Given the description of an element on the screen output the (x, y) to click on. 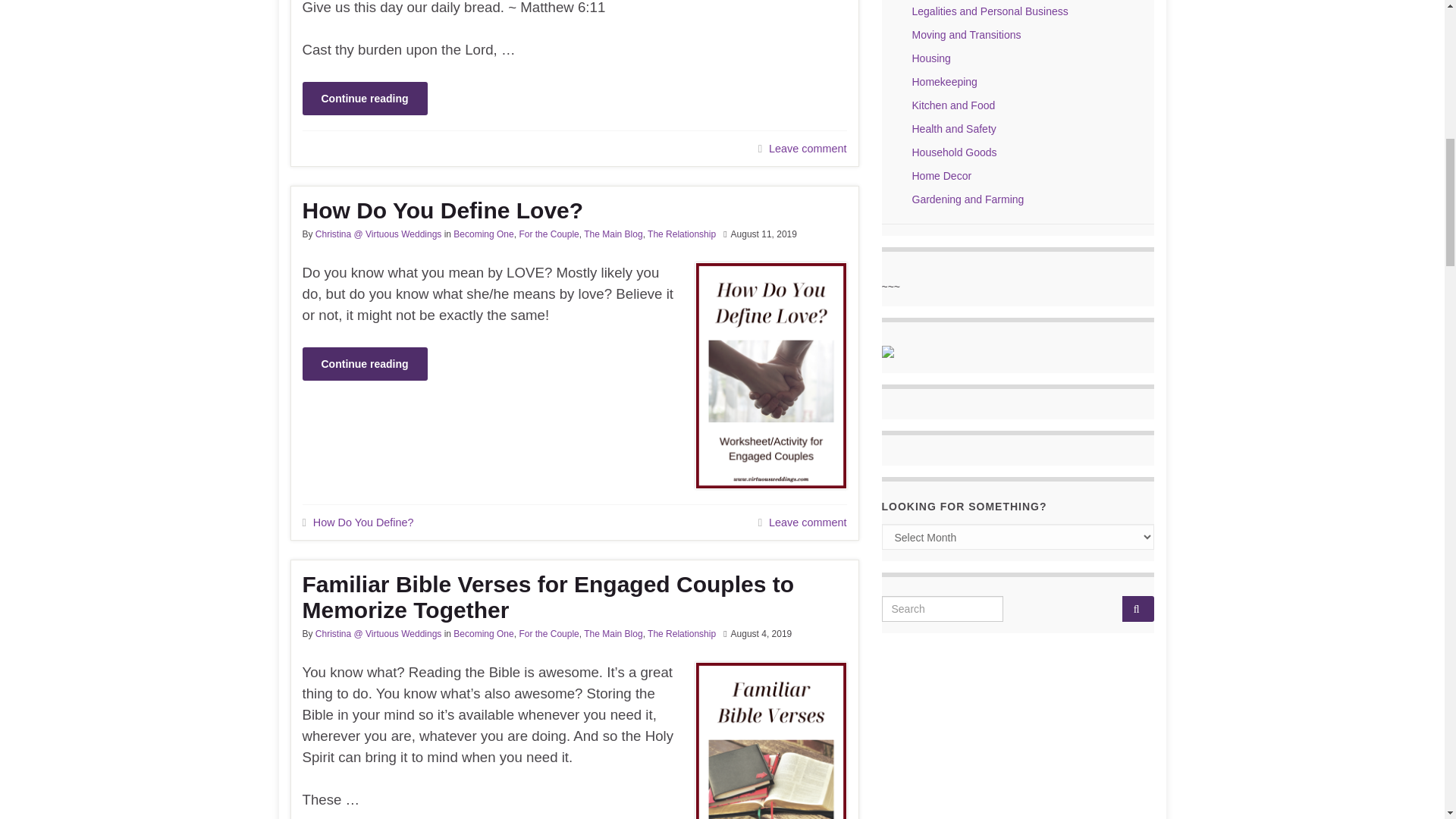
2019-08-04T07:00:14-04:00 (761, 633)
Permalink to How Do You Define Love? (573, 210)
2019-08-11T07:00:00-04:00 (763, 234)
